Given the description of an element on the screen output the (x, y) to click on. 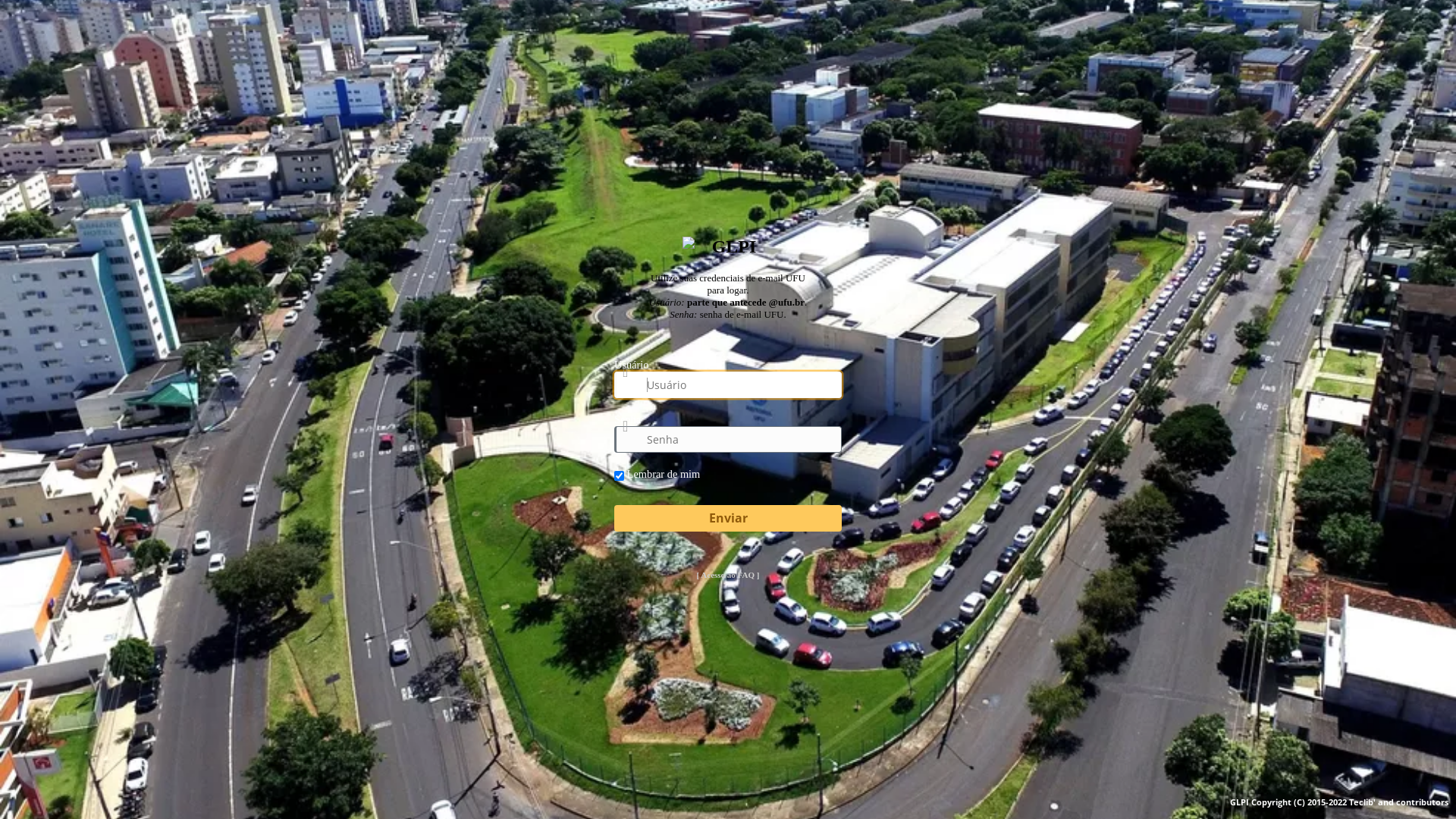
GLPI Copyright (C) 2015-2022 Teclib' and contributors Element type: text (1339, 801)
[ Acesso ao FAQ ] Element type: text (727, 574)
GLPI Element type: hover (727, 246)
Enviar Element type: text (727, 518)
